Given the description of an element on the screen output the (x, y) to click on. 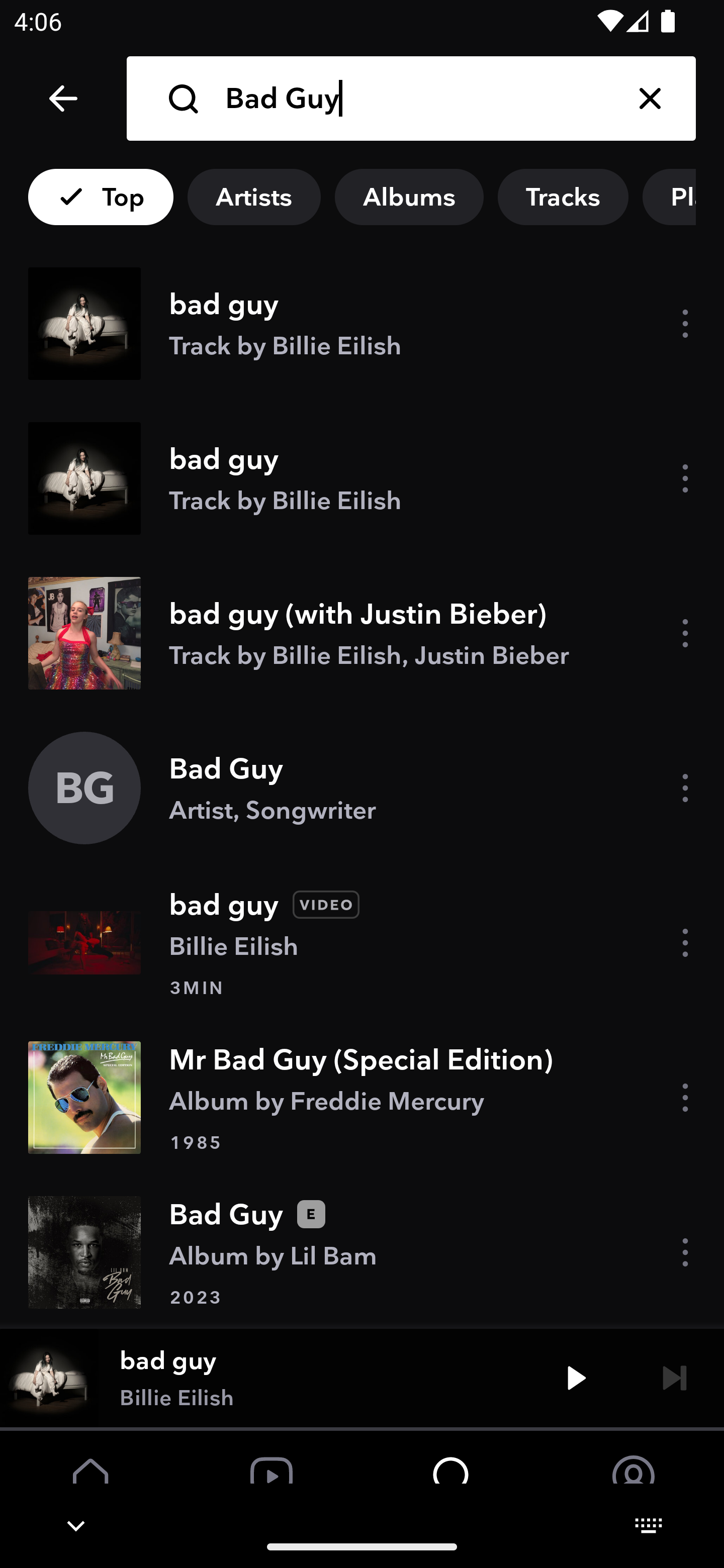
Clear query (650, 98)
Bad Guy (414, 98)
Top (100, 197)
Artists (253, 197)
Albums (408, 197)
Tracks (563, 197)
Playlists (683, 197)
bad guy Track by Billie Eilish (362, 323)
bad guy Track by Billie Eilish (362, 478)
BG Bad Guy Artist, Songwriter (362, 787)
bad guy Billie Eilish 3MIN (362, 942)
Bad Guy Album by Lil Bam 2023 (362, 1251)
bad guy Billie Eilish Play (362, 1377)
Play (576, 1377)
